Given the description of an element on the screen output the (x, y) to click on. 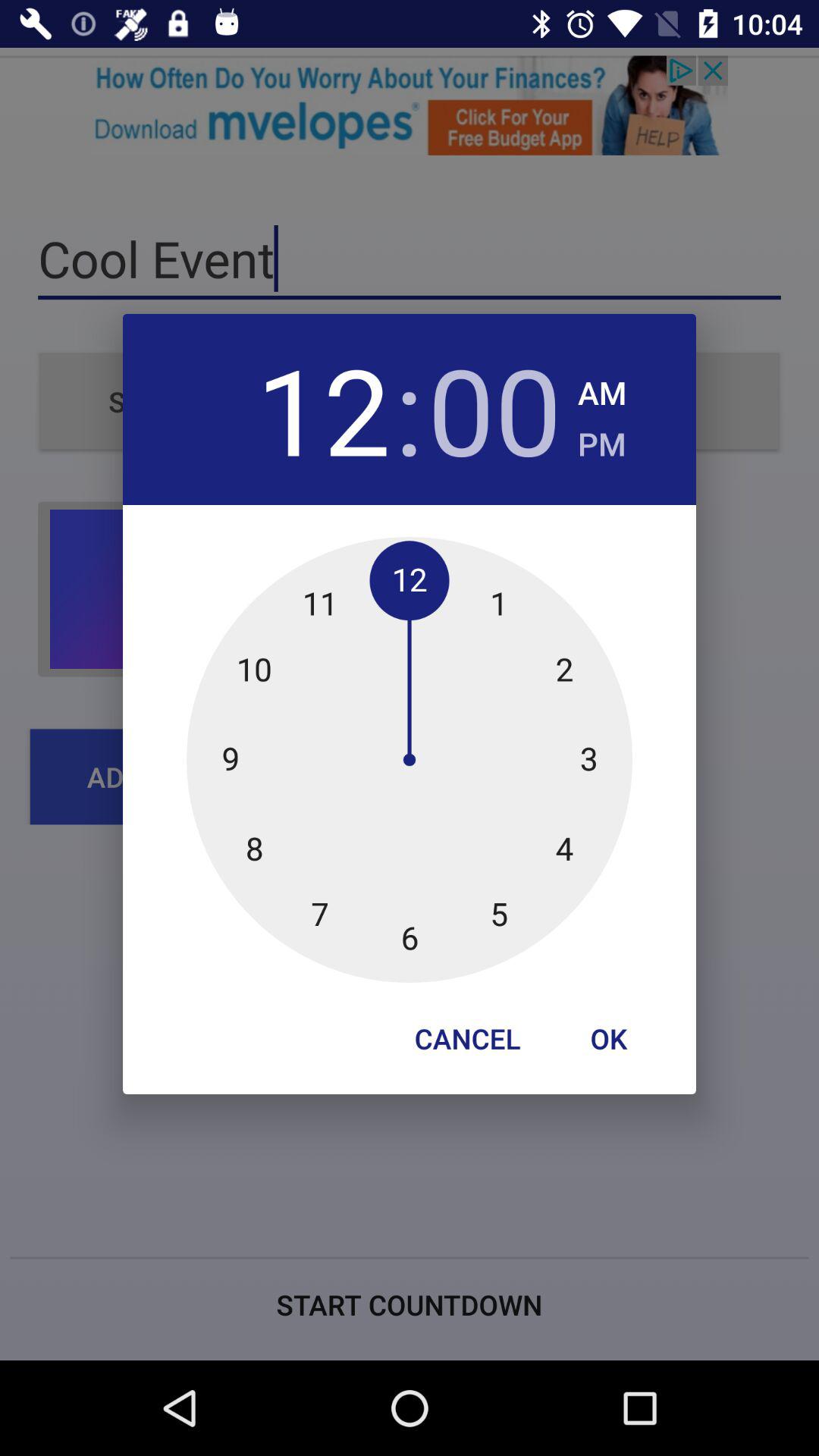
tap the icon to the left of am checkbox (494, 408)
